Given the description of an element on the screen output the (x, y) to click on. 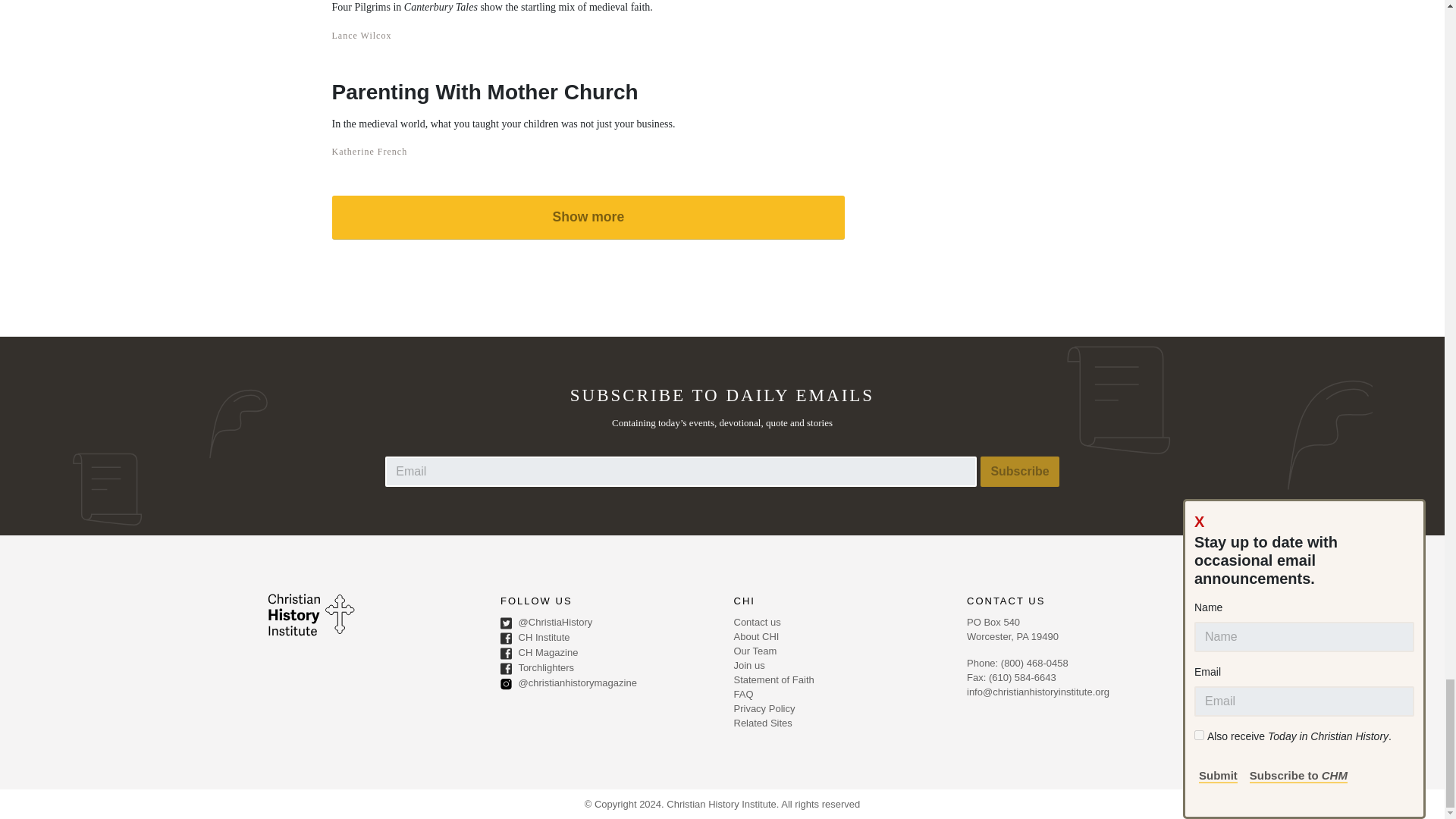
Parenting With Mother Church (503, 91)
Subscribe (1018, 471)
Show more (588, 217)
CH Magazine (605, 653)
CH Institute (605, 638)
